Given the description of an element on the screen output the (x, y) to click on. 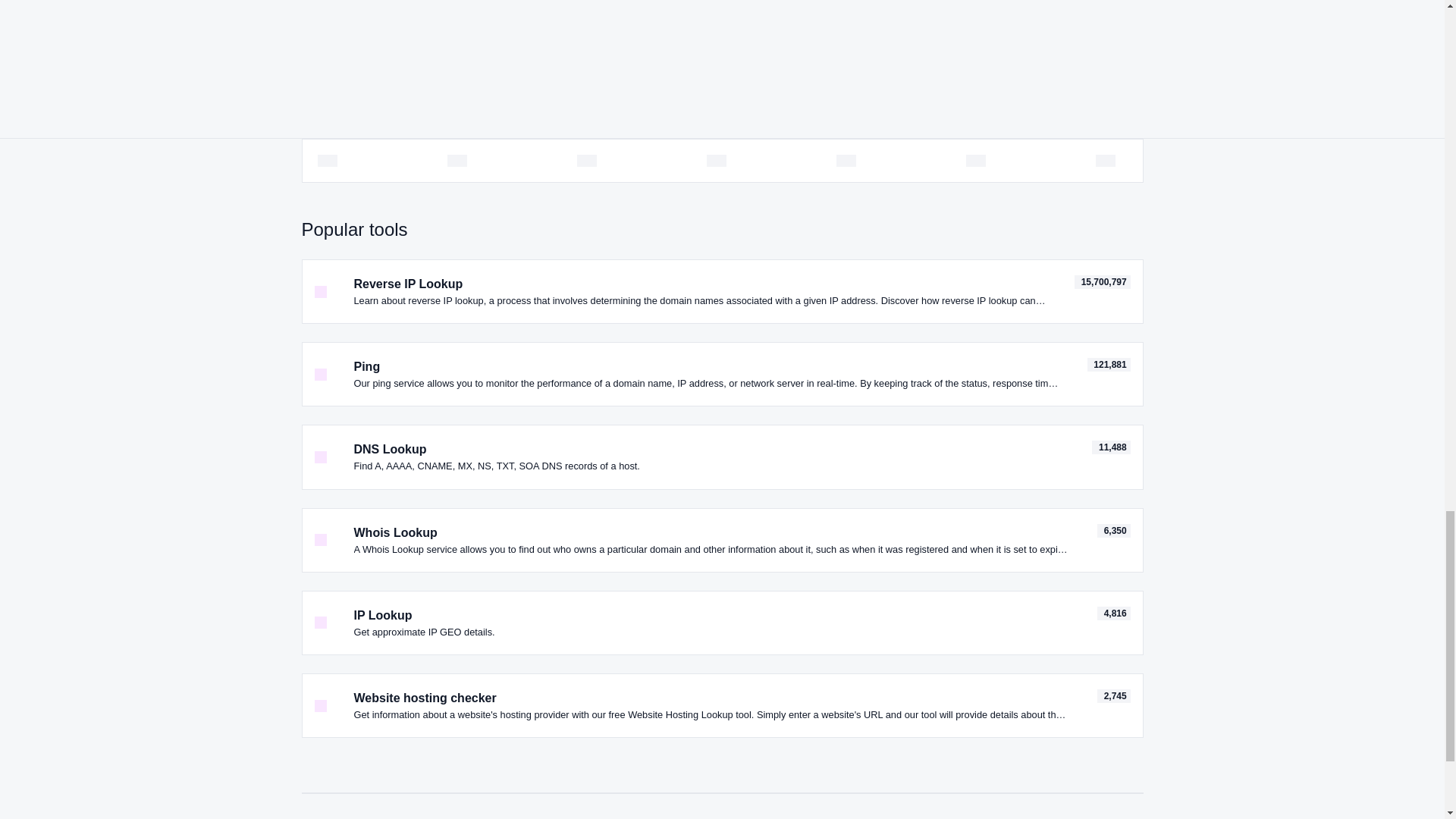
Total views (1114, 695)
Total views (1114, 530)
Total views (1102, 282)
Total views (1114, 612)
Total views (1109, 364)
Total views (1110, 447)
